Given the description of an element on the screen output the (x, y) to click on. 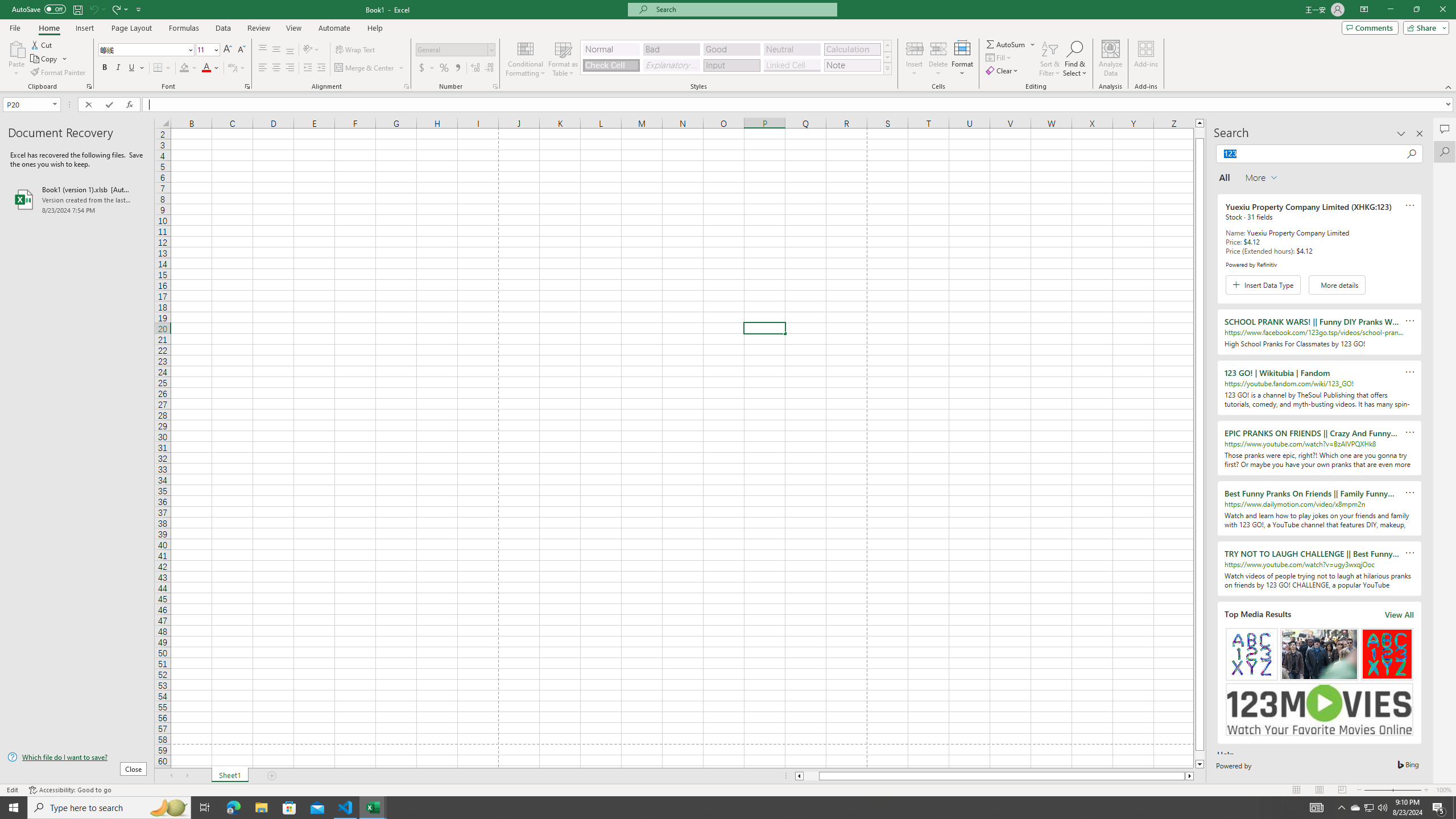
Conditional Formatting (525, 58)
Format (962, 58)
Font (147, 49)
Comma Style (457, 67)
